Given the description of an element on the screen output the (x, y) to click on. 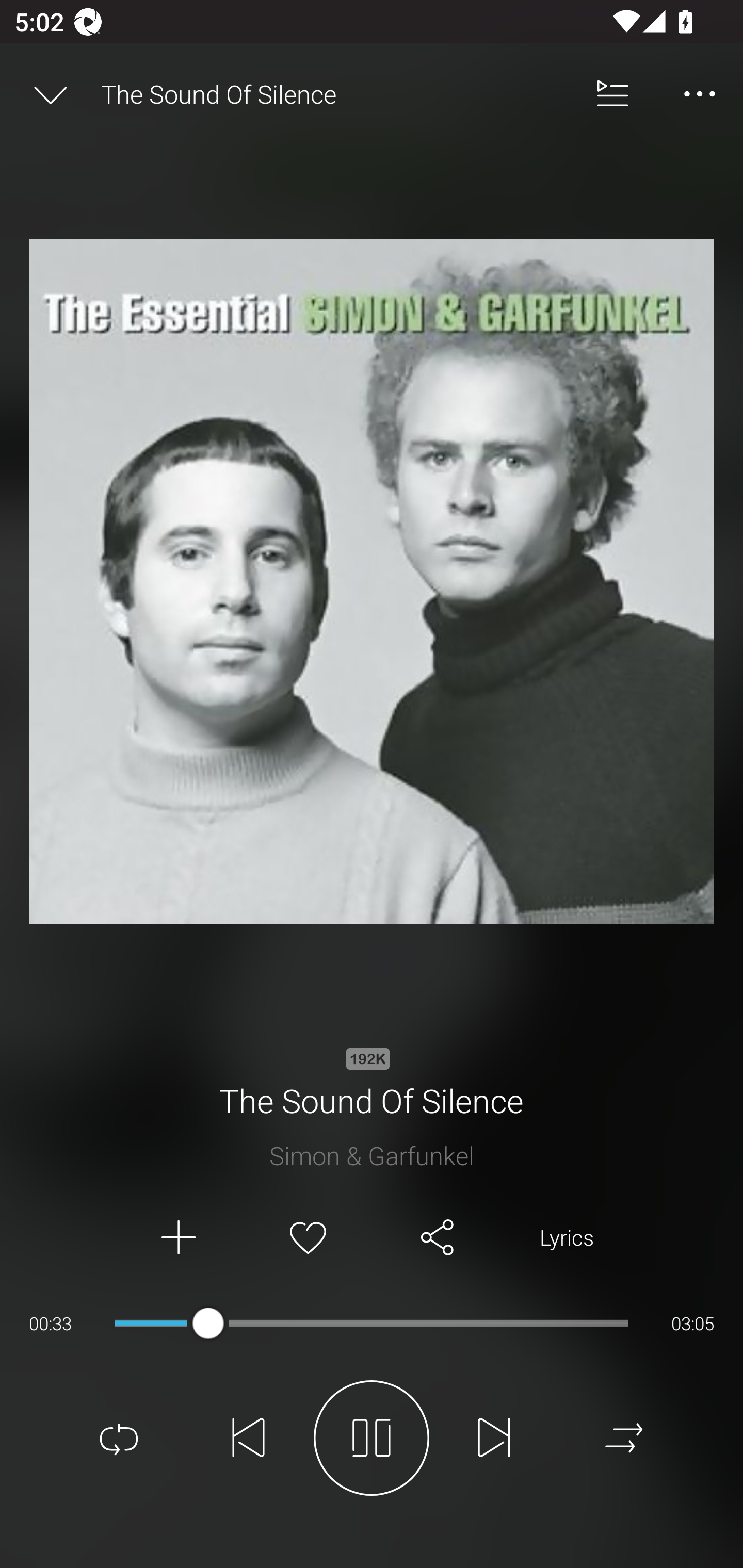
縮小播放介面 (50, 93)
現正播放清單 (612, 93)
更多操作選項 (699, 93)
The Sound Of Silence (335, 93)
Simon & Garfunkel (371, 1155)
加入到新歌單 (177, 1237)
加入收藏, 未加入 (307, 1237)
Lyrics (566, 1237)
暫停播放 (371, 1437)
不重複播放 (118, 1438)
播放前一首 (248, 1438)
播放下一首 (494, 1438)
循序播放 (624, 1438)
